Given the description of an element on the screen output the (x, y) to click on. 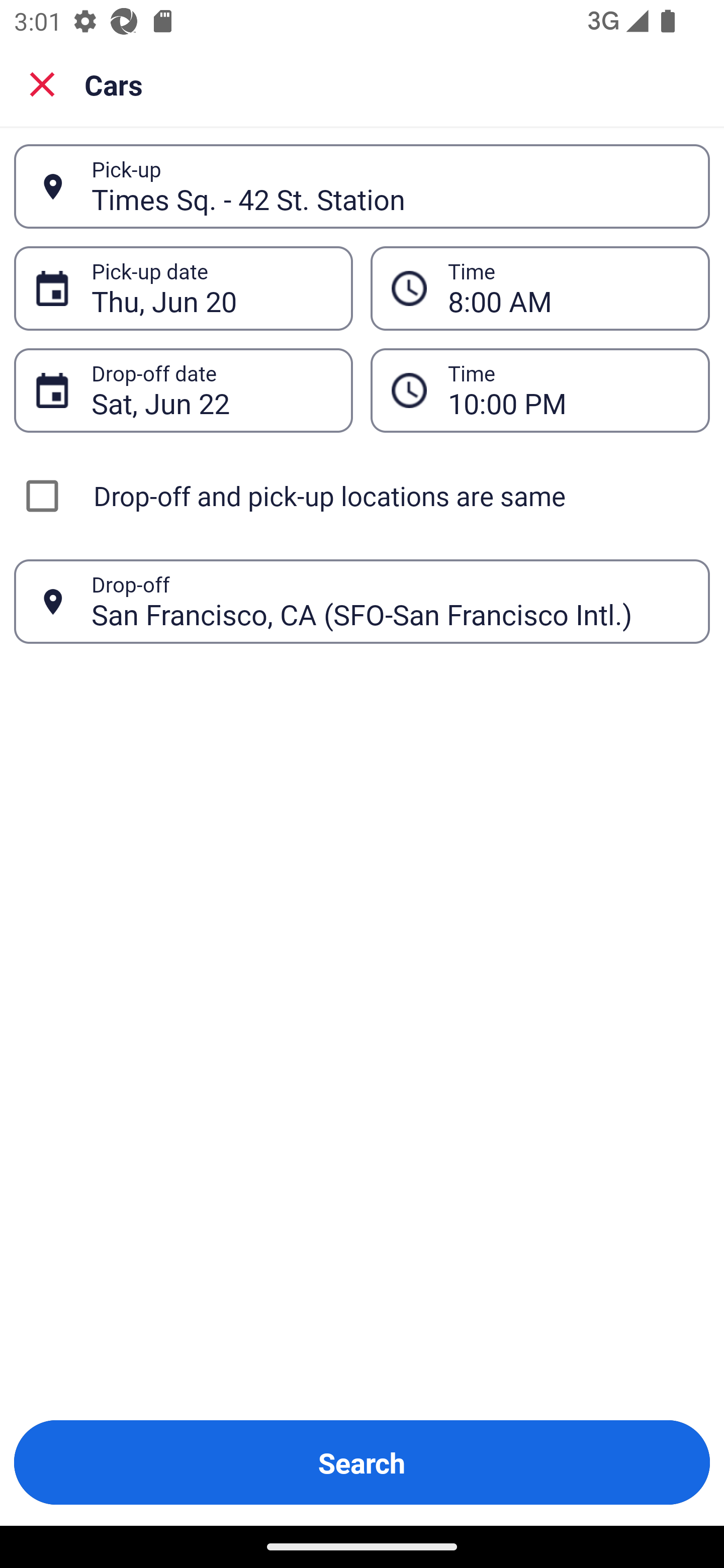
Close search screen (41, 83)
Times Sq. - 42 St. Station Pick-up (361, 186)
Times Sq. - 42 St. Station (389, 186)
Thu, Jun 20 Pick-up date (183, 288)
8:00 AM (540, 288)
Thu, Jun 20 (211, 288)
8:00 AM (568, 288)
Sat, Jun 22 Drop-off date (183, 390)
10:00 PM (540, 390)
Sat, Jun 22 (211, 390)
10:00 PM (568, 390)
Drop-off and pick-up locations are same (361, 495)
San Francisco, CA (SFO-San Francisco Intl.) (389, 601)
Search Button Search (361, 1462)
